Given the description of an element on the screen output the (x, y) to click on. 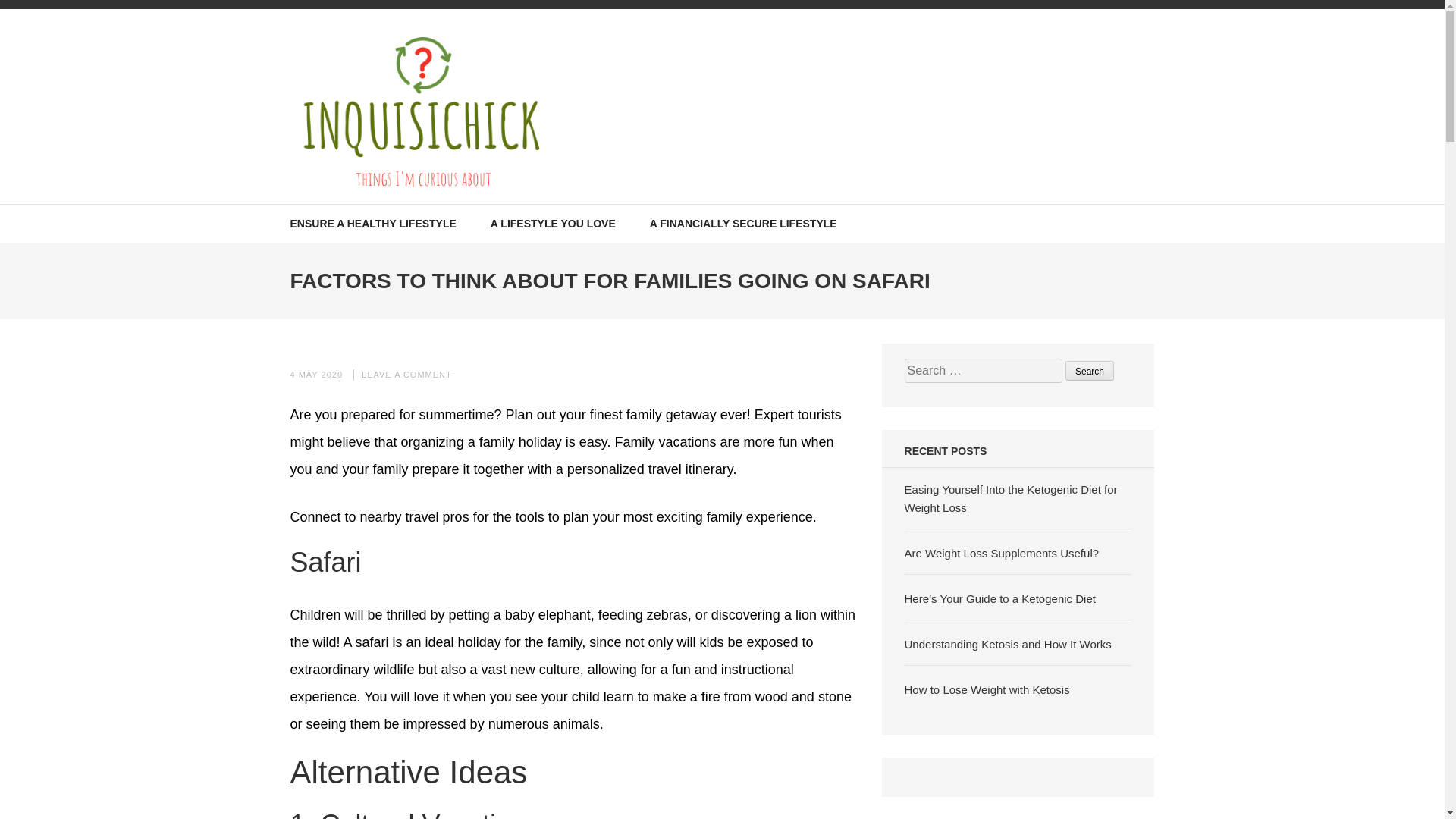
LEAVE A COMMENT (406, 374)
How to Lose Weight with Ketosis (987, 689)
A FINANCIALLY SECURE LIFESTYLE (743, 223)
Search (1089, 370)
Understanding Ketosis and How It Works (1008, 644)
A LIFESTYLE YOU LOVE (552, 223)
Search (1089, 370)
4 MAY 2020 (315, 374)
Easing Yourself Into the Ketogenic Diet for Weight Loss (1011, 498)
THINGS I'M CURIOUS ABOUT (481, 205)
Search (1089, 370)
ENSURE A HEALTHY LIFESTYLE (372, 223)
Are Weight Loss Supplements Useful? (1001, 553)
